Given the description of an element on the screen output the (x, y) to click on. 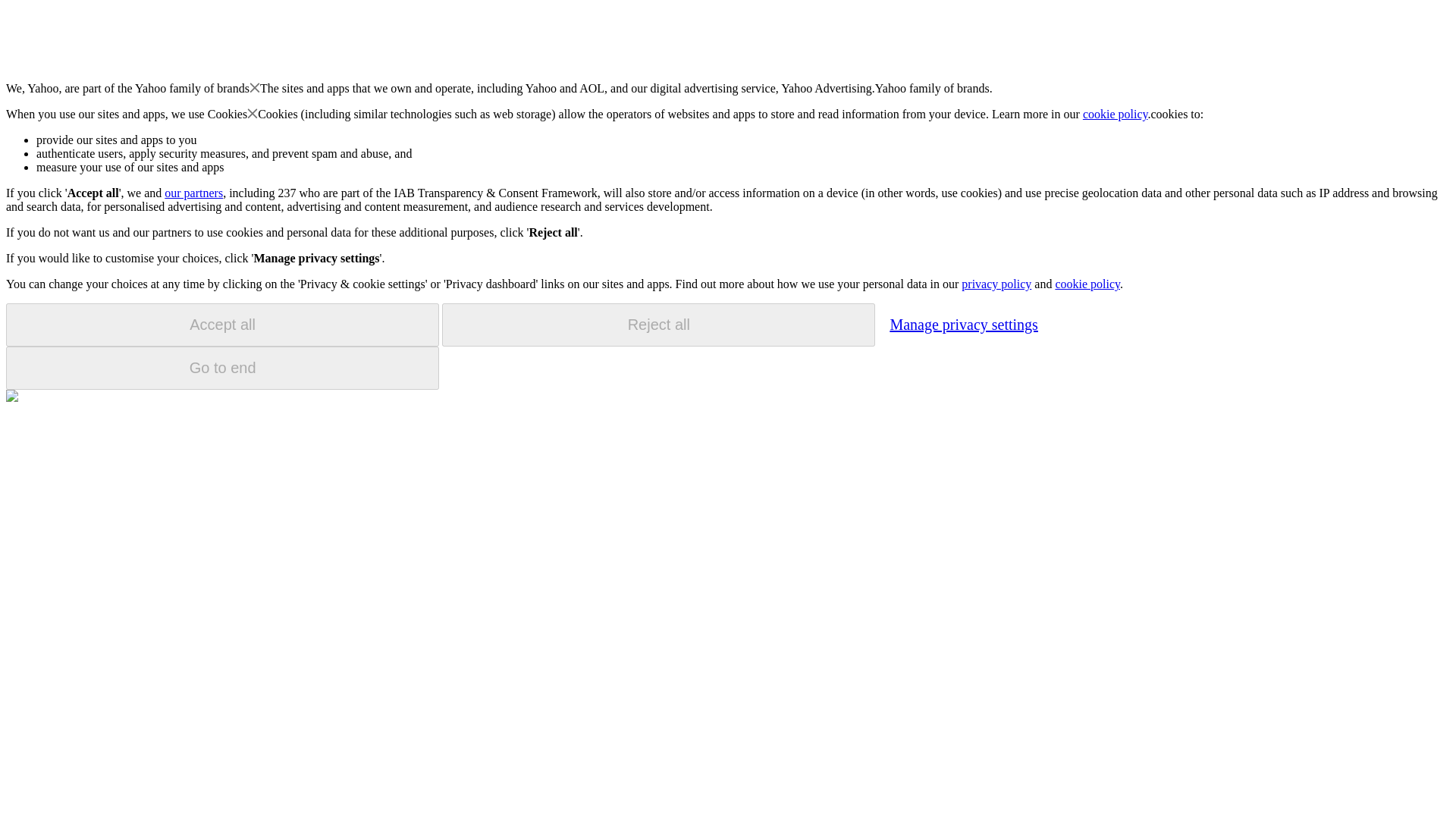
our partners (193, 192)
cookie policy (1115, 113)
privacy policy (995, 283)
Manage privacy settings (963, 323)
cookie policy (1086, 283)
Go to end (222, 367)
Accept all (222, 324)
Reject all (658, 324)
